Given the description of an element on the screen output the (x, y) to click on. 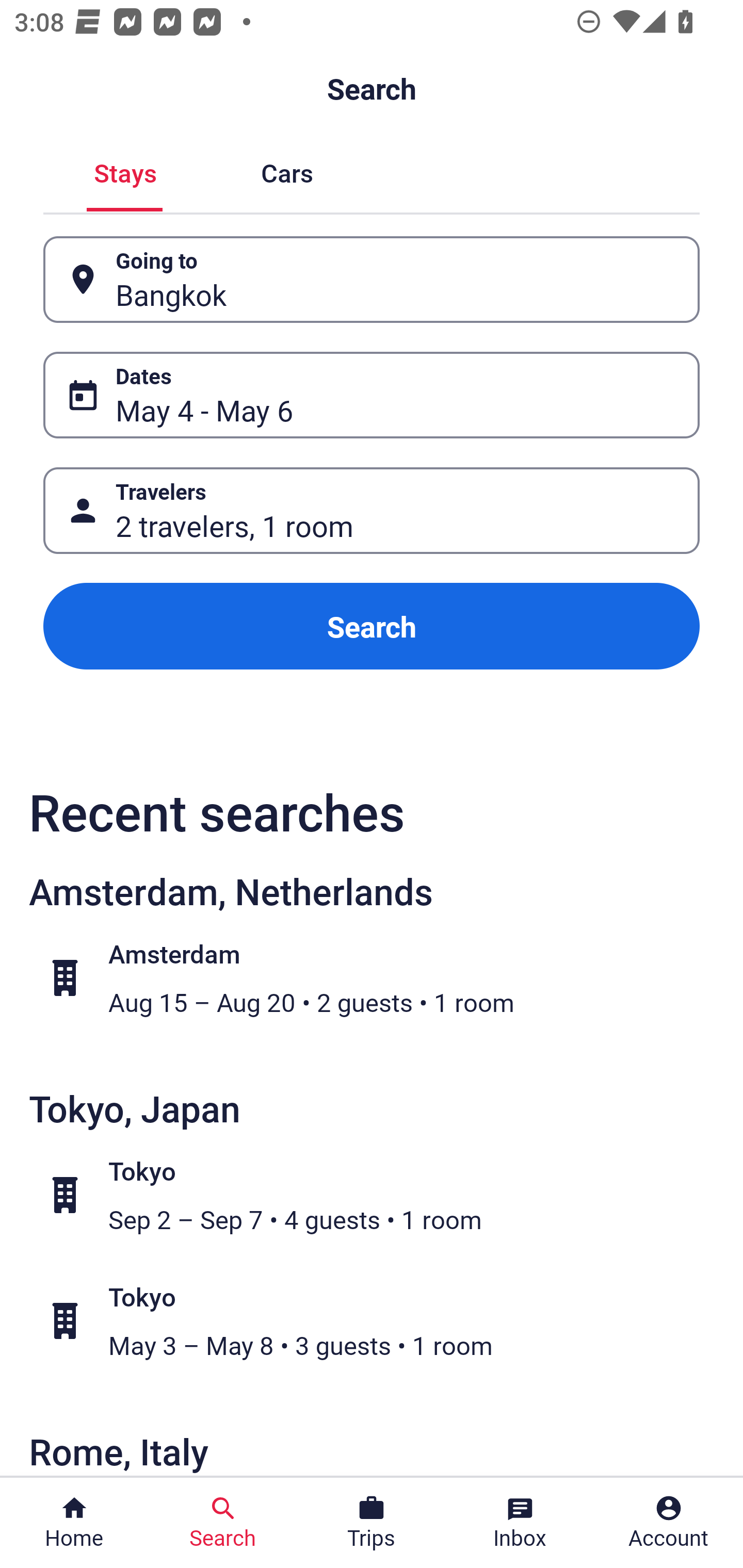
Cars (286, 171)
Going to Button Bangkok (371, 279)
Dates Button May 4 - May 6 (371, 395)
Travelers Button 2 travelers, 1 room (371, 510)
Search (371, 626)
Amsterdam Aug 15 – Aug 20 • 2 guests • 1 room (382, 978)
Tokyo Sep 2 – Sep 7 • 4 guests • 1 room (382, 1194)
Tokyo May 3 – May 8 • 3 guests • 1 room (382, 1320)
Home Home Button (74, 1522)
Trips Trips Button (371, 1522)
Inbox Inbox Button (519, 1522)
Account Profile. Button (668, 1522)
